Given the description of an element on the screen output the (x, y) to click on. 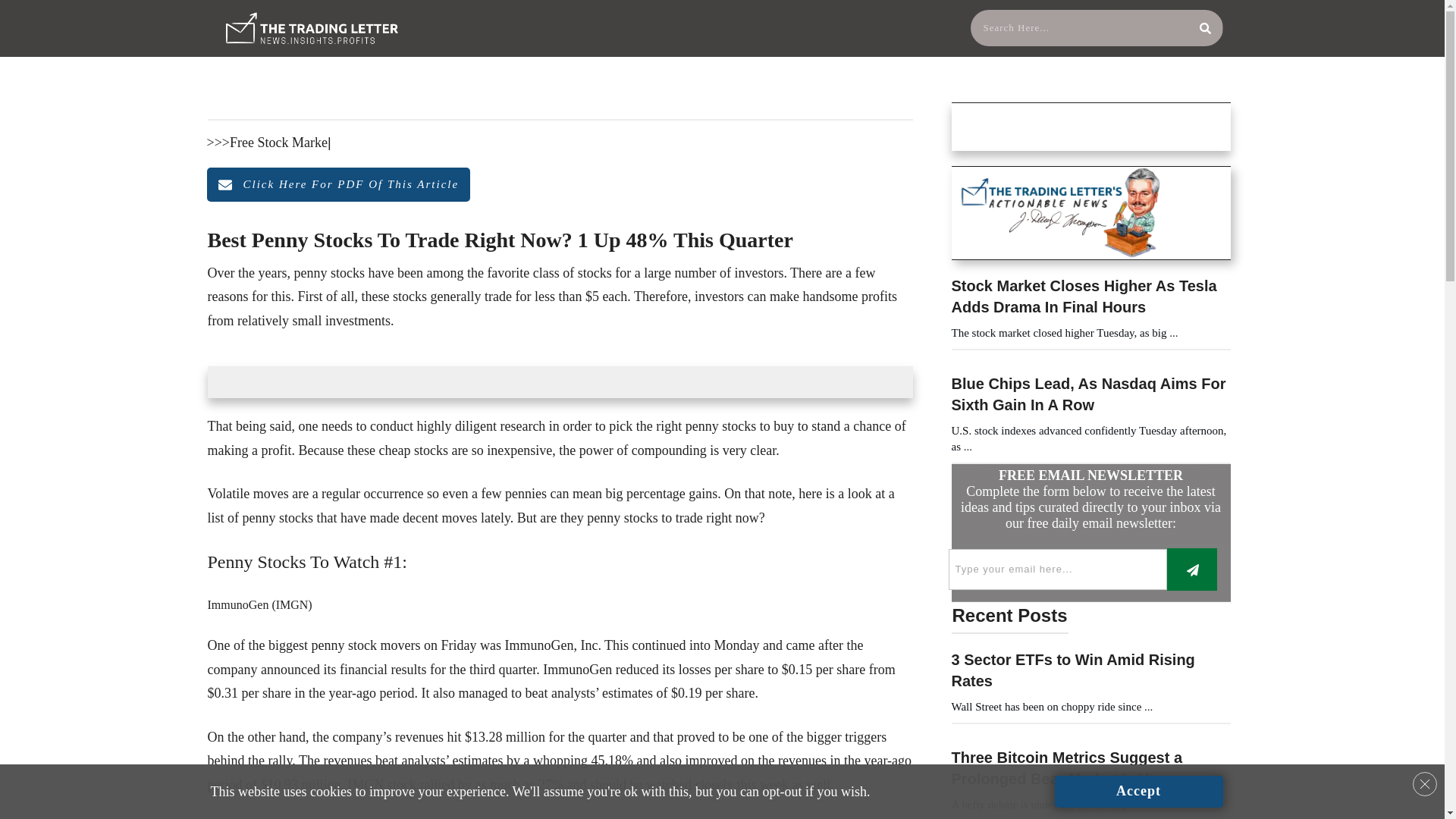
Click Here For PDF Of This Article (338, 184)
3 Sector ETFs to Win Amid Rising Rates (1071, 670)
3 Sector ETFs to Win Amid Rising Rates (1071, 670)
Accept (1138, 791)
Blue Chips Lead, As Nasdaq Aims For Sixth Gain In A Row (1087, 394)
Blue Chips Lead, As Nasdaq Aims For Sixth Gain In A Row (1087, 394)
